Given the description of an element on the screen output the (x, y) to click on. 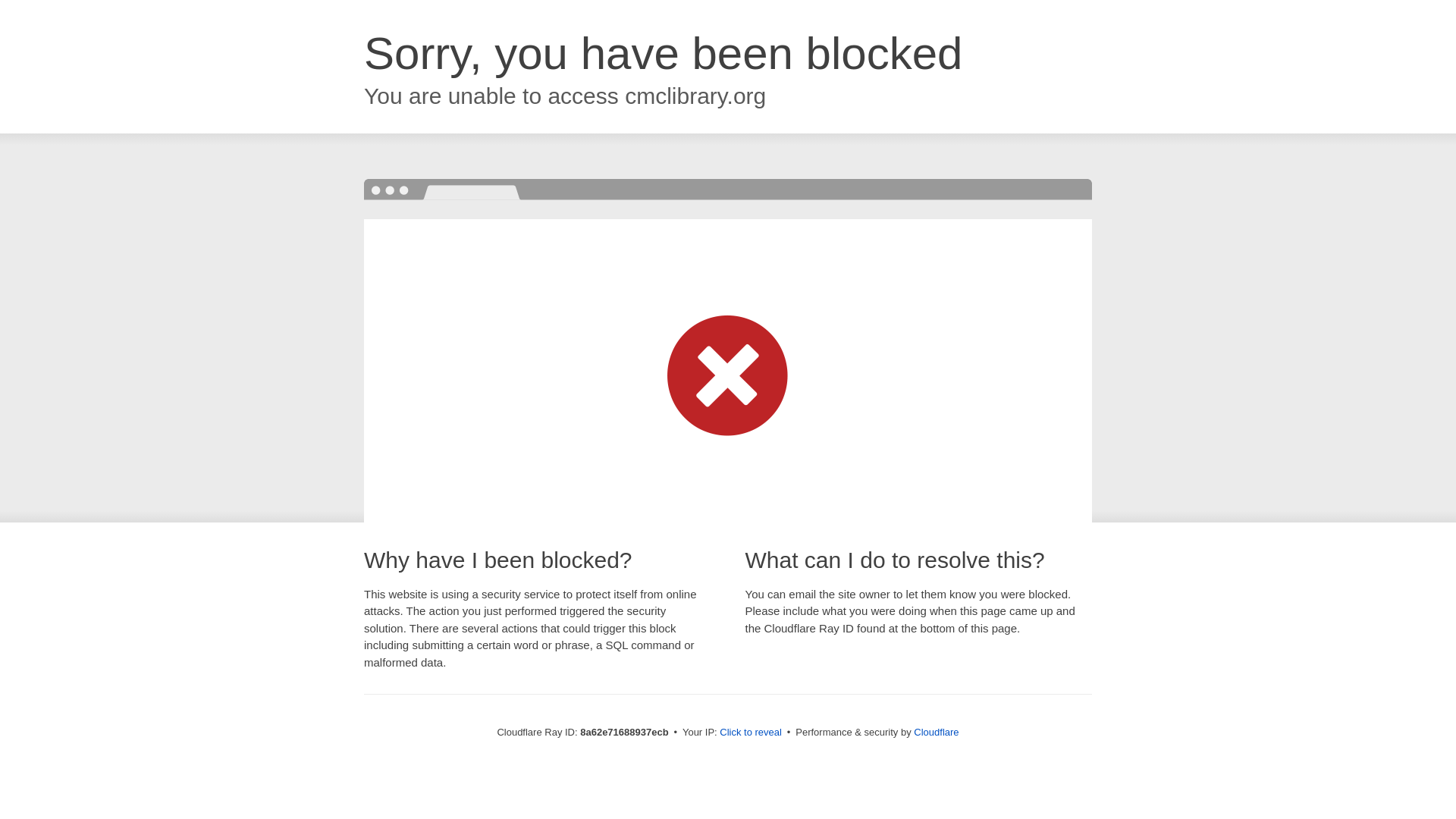
Cloudflare (936, 731)
Click to reveal (750, 732)
